Given the description of an element on the screen output the (x, y) to click on. 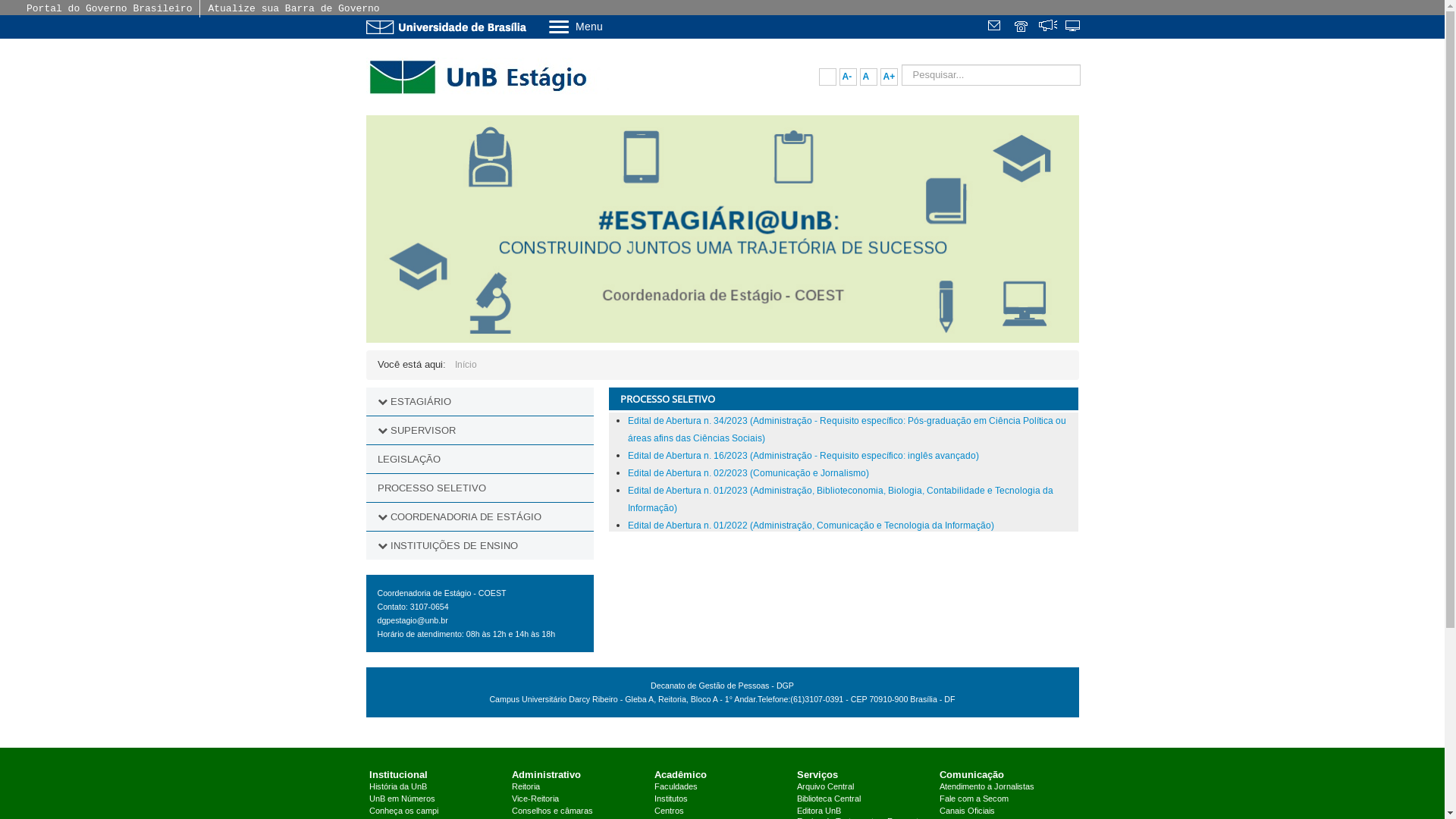
SUPERVISOR Element type: text (422, 430)
Biblioteca Central Element type: text (828, 798)
Institutos Element type: text (670, 798)
Centros Element type: text (669, 810)
A Element type: text (868, 76)
  Element type: text (996, 27)
SUPERVISOR Element type: text (479, 430)
Editora UnB Element type: text (818, 810)
A+ Element type: text (888, 76)
PROCESSO SELETIVO Element type: text (479, 487)
  Element type: text (1047, 27)
Vice-Reitoria Element type: text (534, 798)
Ir para o Portal da UnB Element type: hover (448, 26)
Atualize sua Barra de Governo Element type: text (293, 8)
Sistemas Element type: hover (1073, 27)
Telefones da UnB Element type: hover (1022, 27)
Canais Oficiais Element type: text (966, 810)
Atendimento a Jornalistas Element type: text (986, 786)
Fale com a Secom Element type: text (973, 798)
Menu Element type: text (613, 25)
Fala.BR Element type: hover (1047, 27)
A- Element type: text (847, 76)
Arquivo Central Element type: text (825, 786)
  Element type: text (1022, 27)
Reitoria Element type: text (525, 786)
  Element type: text (1073, 27)
Faculdades Element type: text (675, 786)
Portal do Governo Brasileiro Element type: text (108, 8)
Webmail Element type: hover (996, 27)
